Given the description of an element on the screen output the (x, y) to click on. 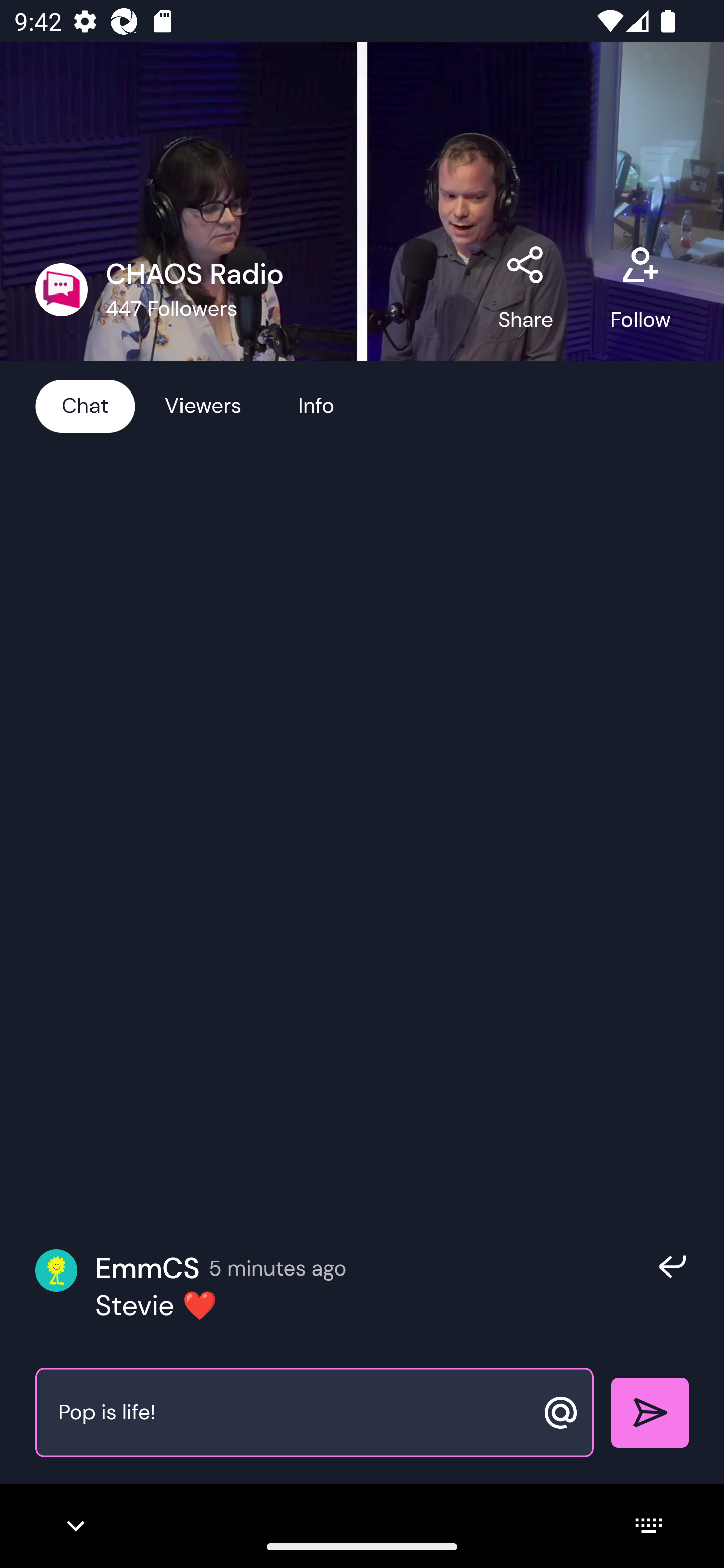
Share (525, 289)
Follow (640, 289)
Filter by button Pop (198, 291)
Chat (84, 404)
Viewers (203, 404)
Info (316, 404)
EmmCS (146, 1268)
Pop is life! (292, 1413)
